Given the description of an element on the screen output the (x, y) to click on. 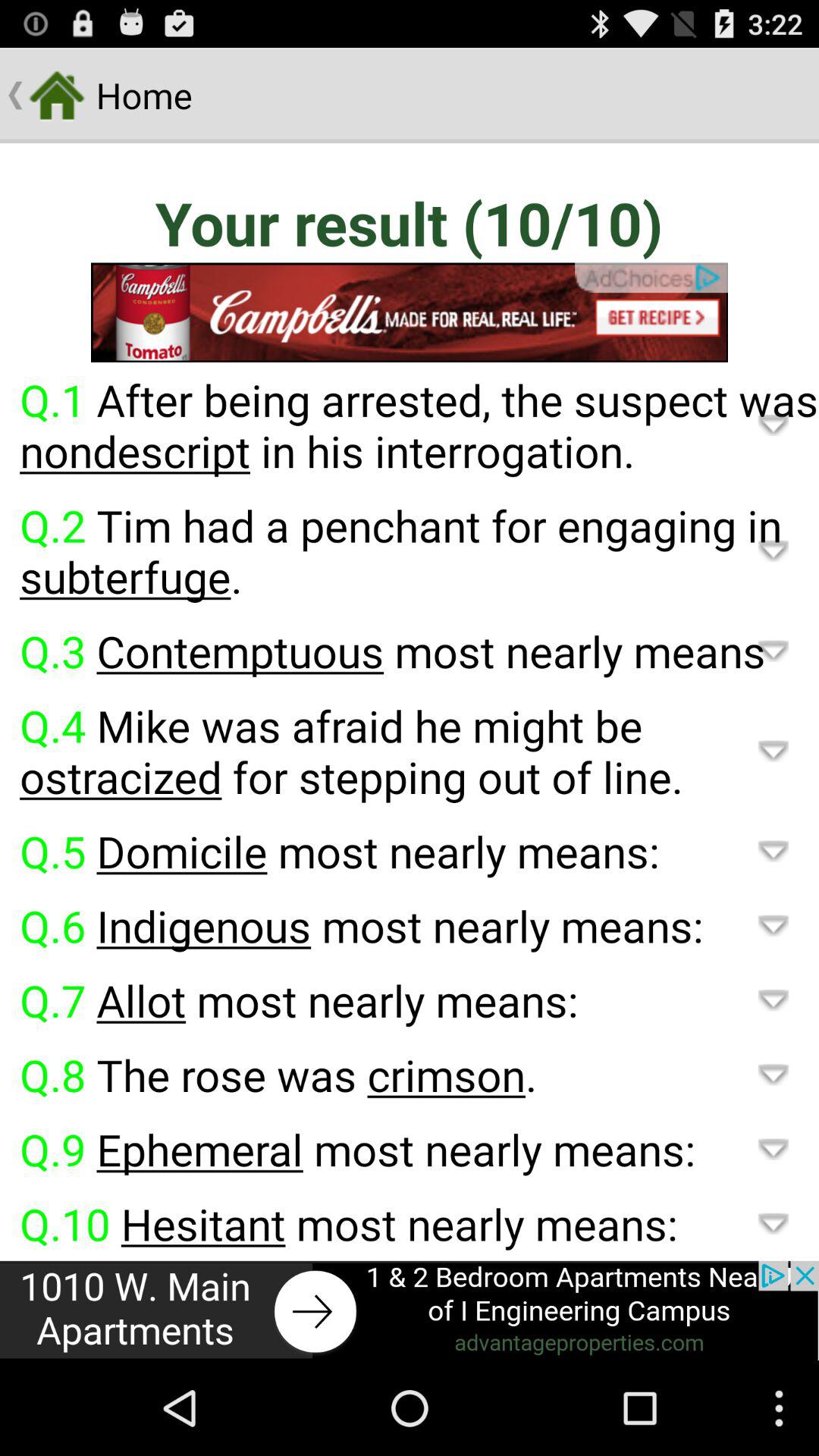
announcement (409, 1310)
